Given the description of an element on the screen output the (x, y) to click on. 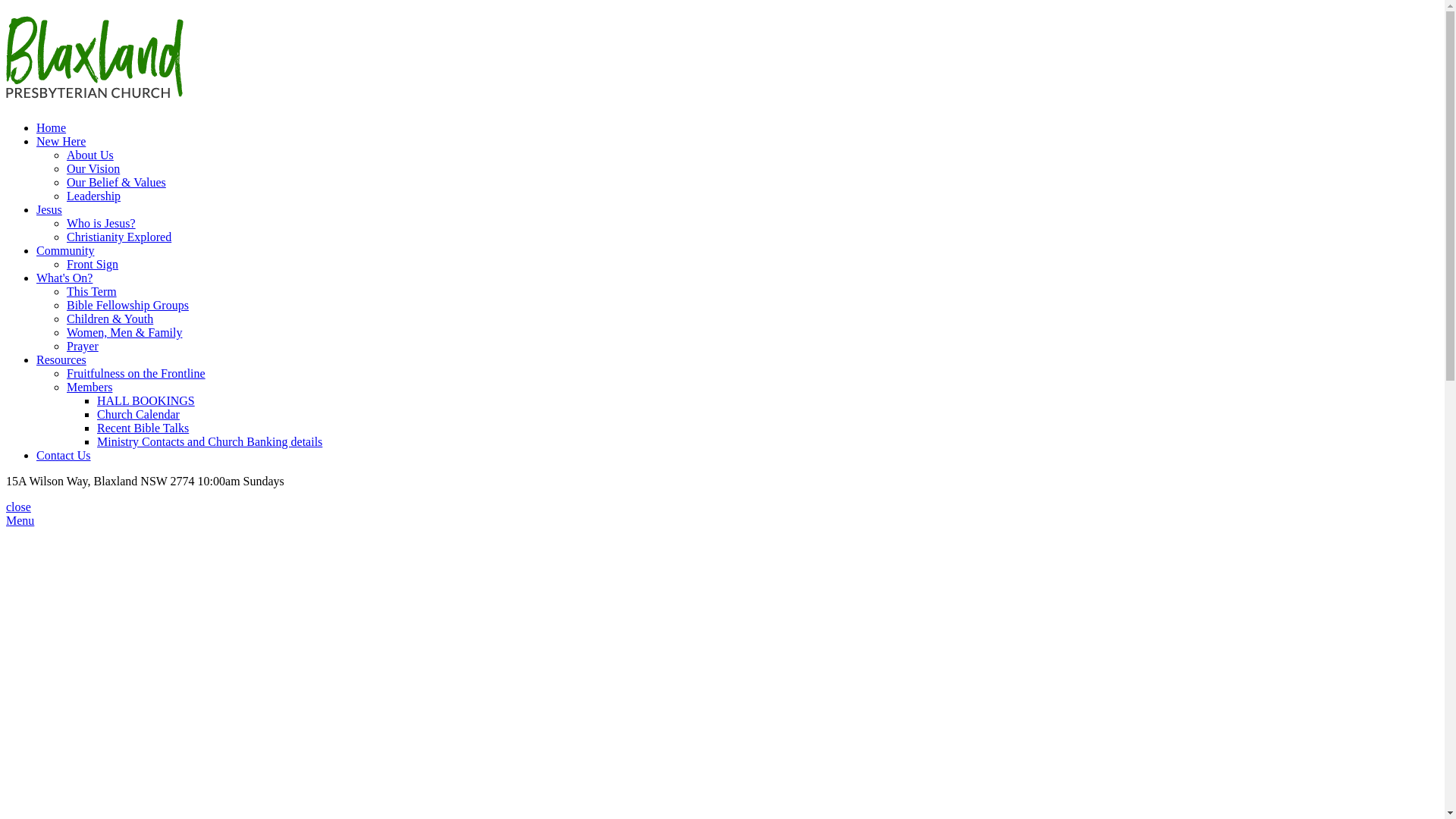
Home Element type: text (50, 127)
Our Vision Element type: text (92, 168)
Jesus Element type: text (49, 209)
Front Sign Element type: text (92, 263)
Leadership Element type: text (93, 195)
Women, Men & Family Element type: text (124, 332)
New Here Element type: text (60, 140)
close Element type: text (18, 506)
Christianity Explored Element type: text (118, 236)
Ministry Contacts and Church Banking details Element type: text (209, 441)
Prayer Element type: text (82, 345)
This Term Element type: text (91, 291)
Fruitfulness on the Frontline Element type: text (135, 373)
Contact Us Element type: text (63, 454)
What's On? Element type: text (64, 277)
Menu Element type: text (20, 520)
Community Element type: text (65, 250)
About Us Element type: text (89, 154)
Our Belief & Values Element type: text (116, 181)
Members Element type: text (89, 386)
Resources Element type: text (61, 359)
HALL BOOKINGS Element type: text (145, 400)
Who is Jesus? Element type: text (100, 222)
Children & Youth Element type: text (109, 318)
Recent Bible Talks Element type: text (142, 427)
Bible Fellowship Groups Element type: text (127, 304)
Church Calendar Element type: text (138, 413)
